Given the description of an element on the screen output the (x, y) to click on. 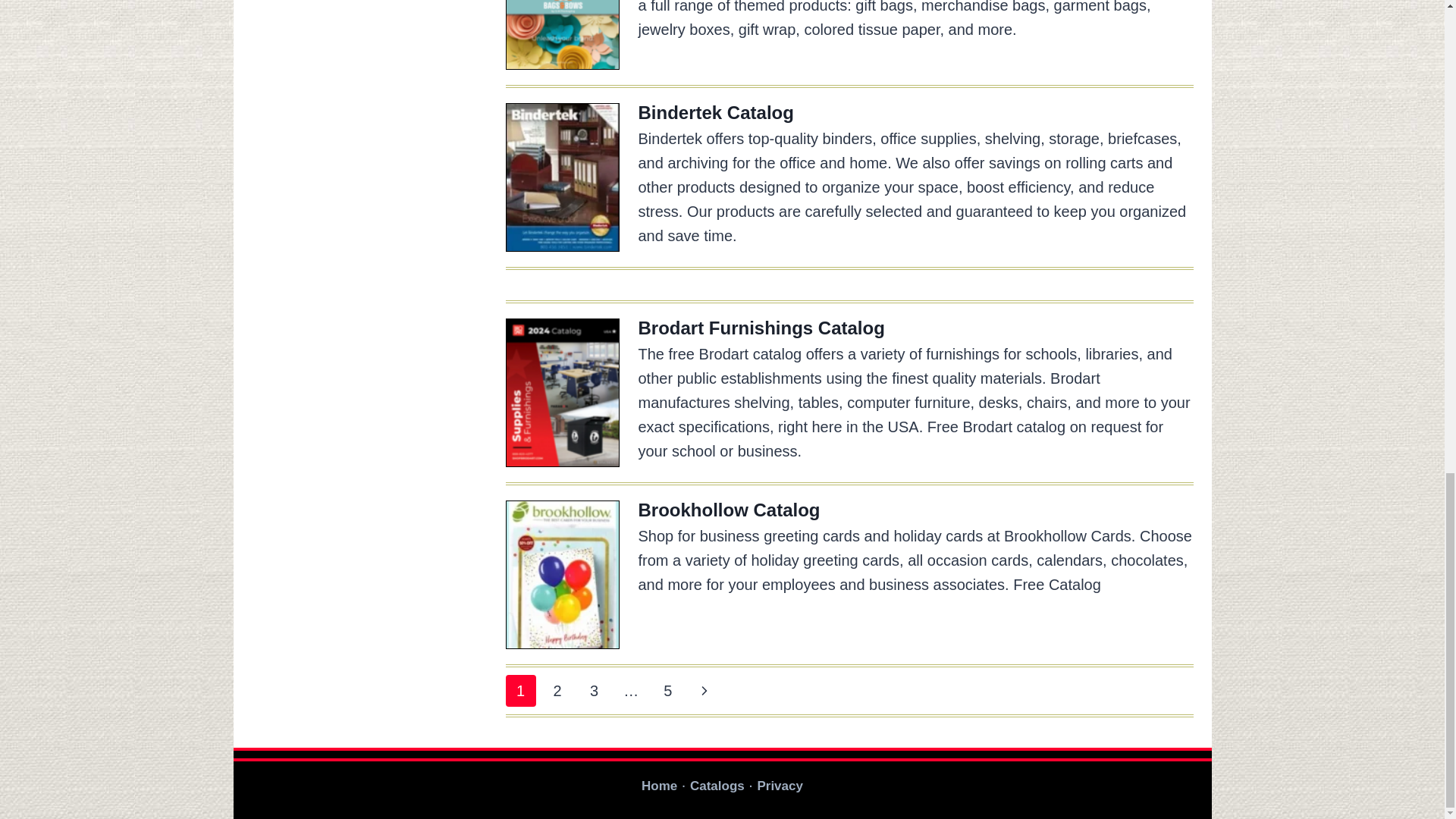
Brodart Furnishings Catalog (762, 327)
2 (556, 690)
Brookhollow Catalog (730, 509)
5 (667, 690)
Bindertek Catalog (716, 112)
3 (594, 690)
Next Page (703, 690)
